Given the description of an element on the screen output the (x, y) to click on. 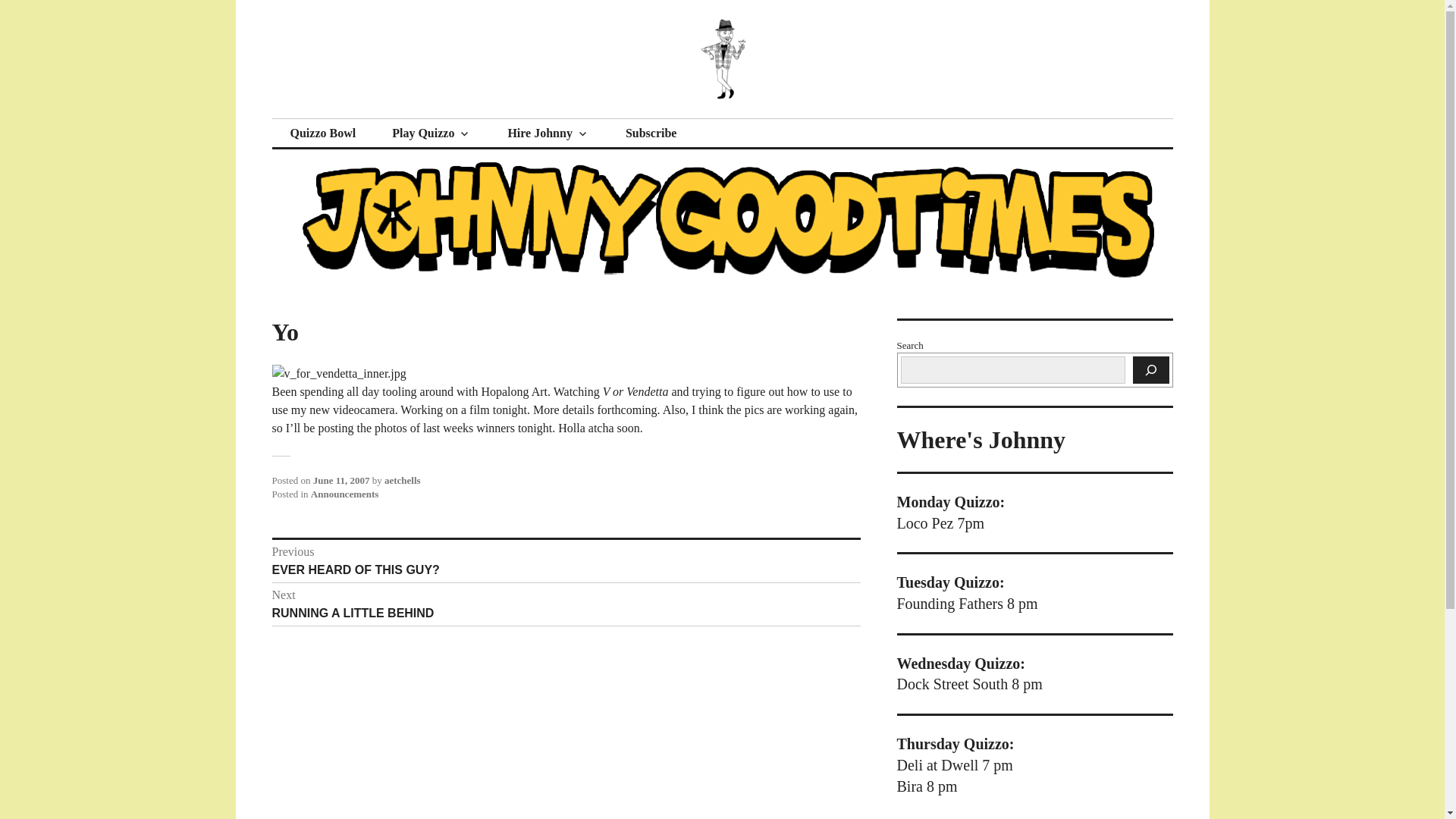
Announcements (344, 493)
Hire Johnny (548, 133)
Quizzo Bowl (322, 133)
aetchells (402, 480)
Sign up for the Johnny Goodtimes Email Newsletter (651, 133)
Johnny Goodtimes (392, 117)
Play Quizzo (565, 560)
Subscribe (431, 133)
June 11, 2007 (651, 133)
